Given the description of an element on the screen output the (x, y) to click on. 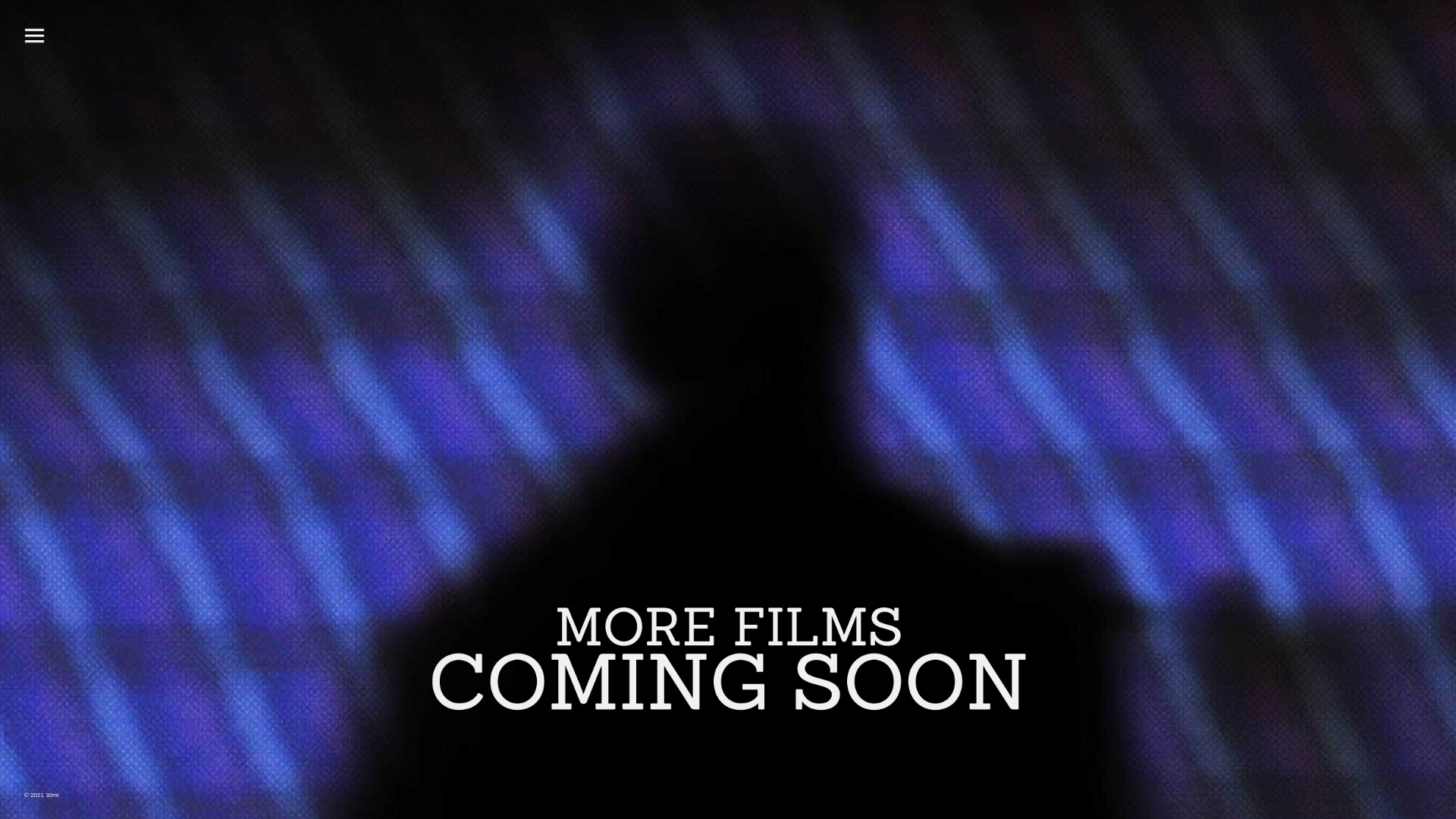
menu Element type: text (33, 35)
